Given the description of an element on the screen output the (x, y) to click on. 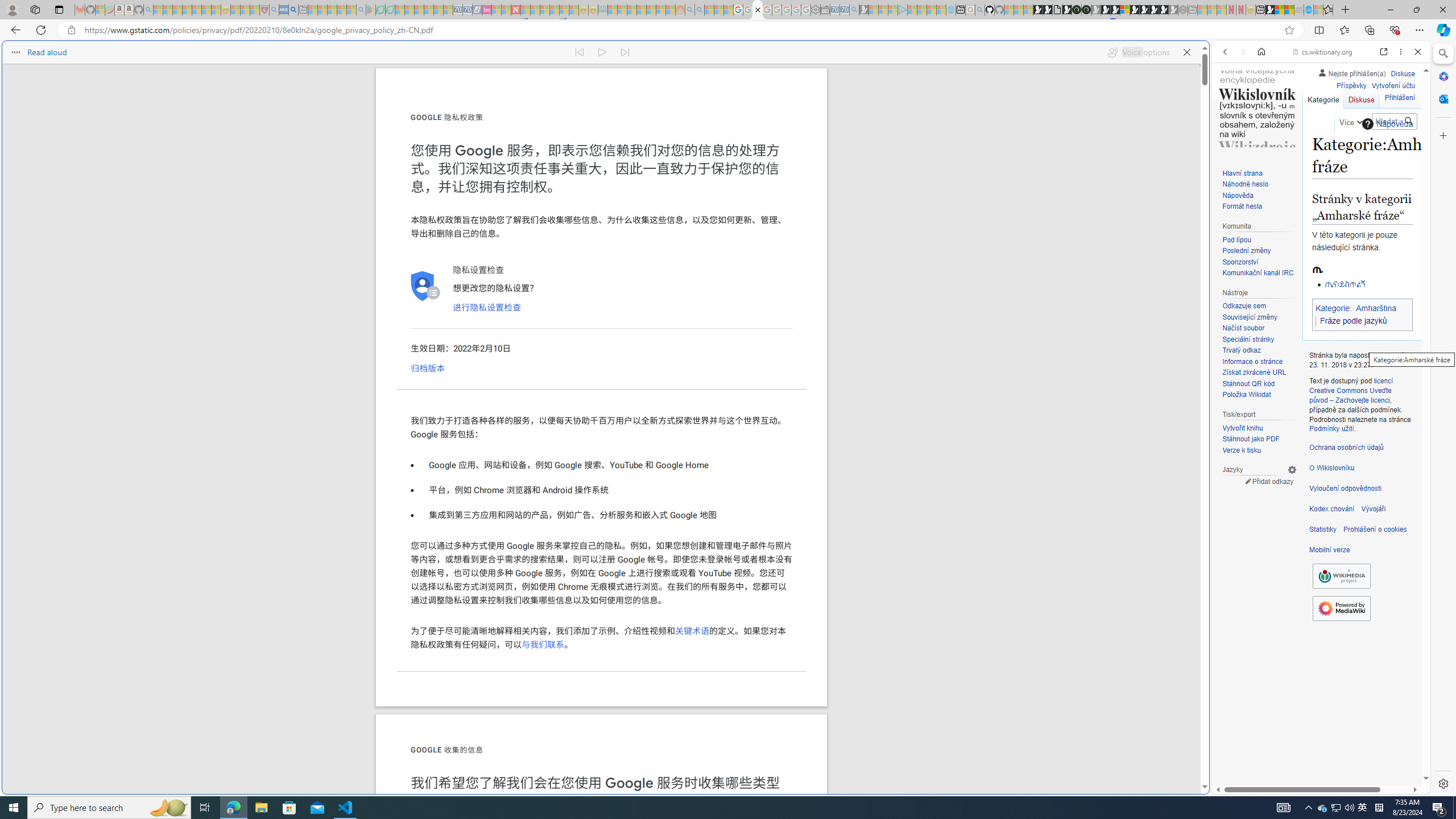
Search the web (1326, 78)
Pets - MSN - Sleeping (340, 9)
